Given the description of an element on the screen output the (x, y) to click on. 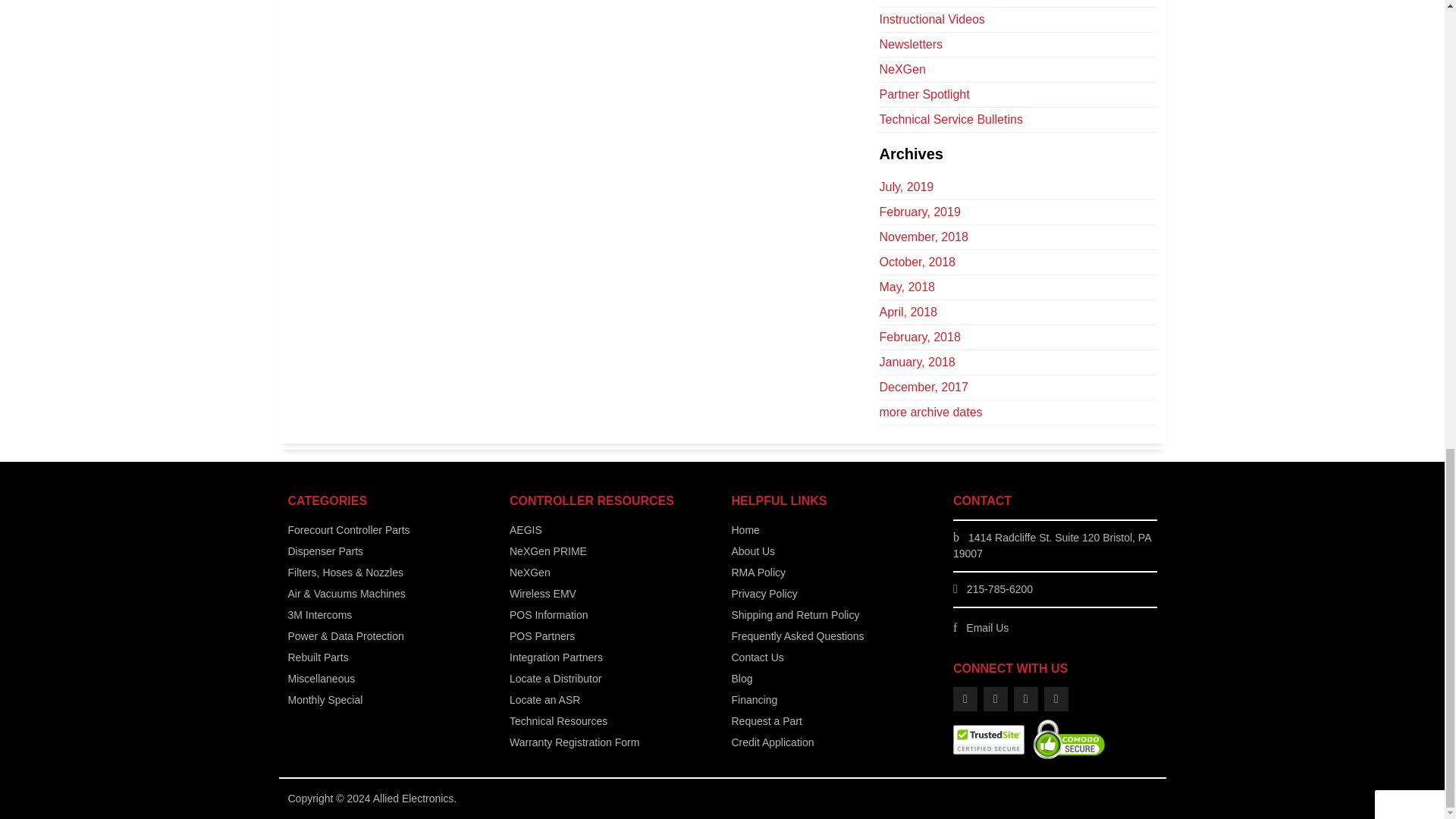
Facebook (964, 699)
YouTube (1025, 699)
Twitter (995, 699)
LinkedIn (1055, 699)
